Given the description of an element on the screen output the (x, y) to click on. 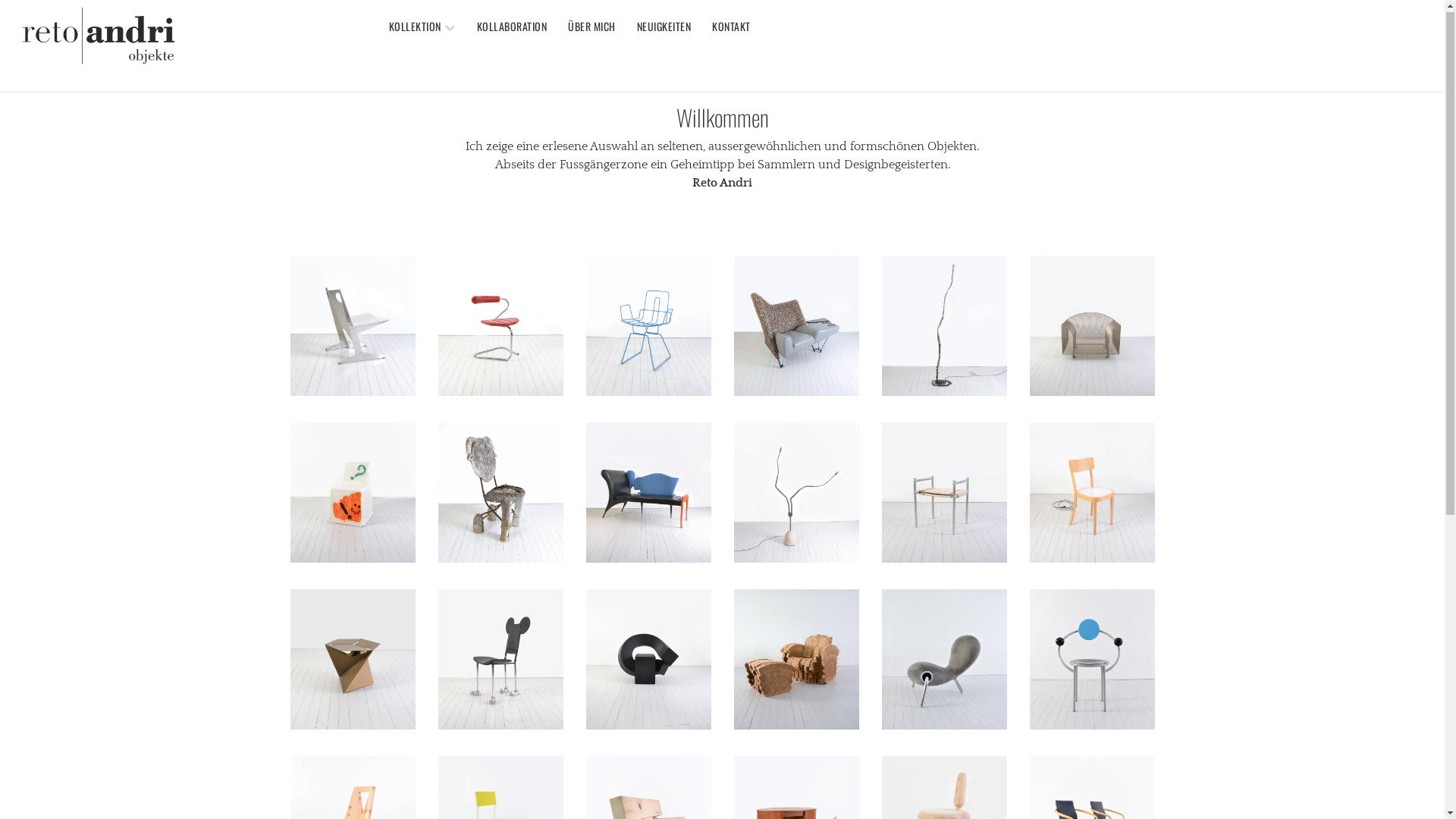
Stuhl- Bruno Weber Element type: hover (500, 493)
Sofa- Borek Sipek Element type: hover (647, 493)
Stuhl- Javier Mariscal Element type: hover (500, 660)
Tisch- Philippe Bestenheider Element type: hover (351, 660)
Paolo Deganello- Torso Element type: hover (796, 327)
Sessel - Frank Gehry Element type: hover (796, 660)
Stuhl- DeLucchi Element type: hover (1091, 660)
Sessel- Marc Newson Element type: hover (943, 660)
Sessel - Shiro Kuramata Element type: hover (1091, 327)
KOLLEKTION Element type: text (422, 28)
Stehleuchte- Ron Arad Element type: hover (796, 493)
Stefan Wewerka- B5 Tecta Element type: hover (500, 327)
Stuhl- Gaetano Pesce x Bottega Veneta Element type: hover (351, 493)
Stuhl- Atelier N2 Element type: hover (1091, 493)
Hocker- Edgar Jayet Element type: hover (943, 493)
NEUIGKEITEN Element type: text (664, 27)
Stehleuchte- Franz West Element type: hover (943, 327)
KONTAKT Element type: text (731, 27)
KOLLABORATION Element type: text (512, 27)
David Ericsson- Exxo Chair Element type: hover (351, 327)
Chair- Chulan Kwak Element type: hover (647, 660)
